Given the description of an element on the screen output the (x, y) to click on. 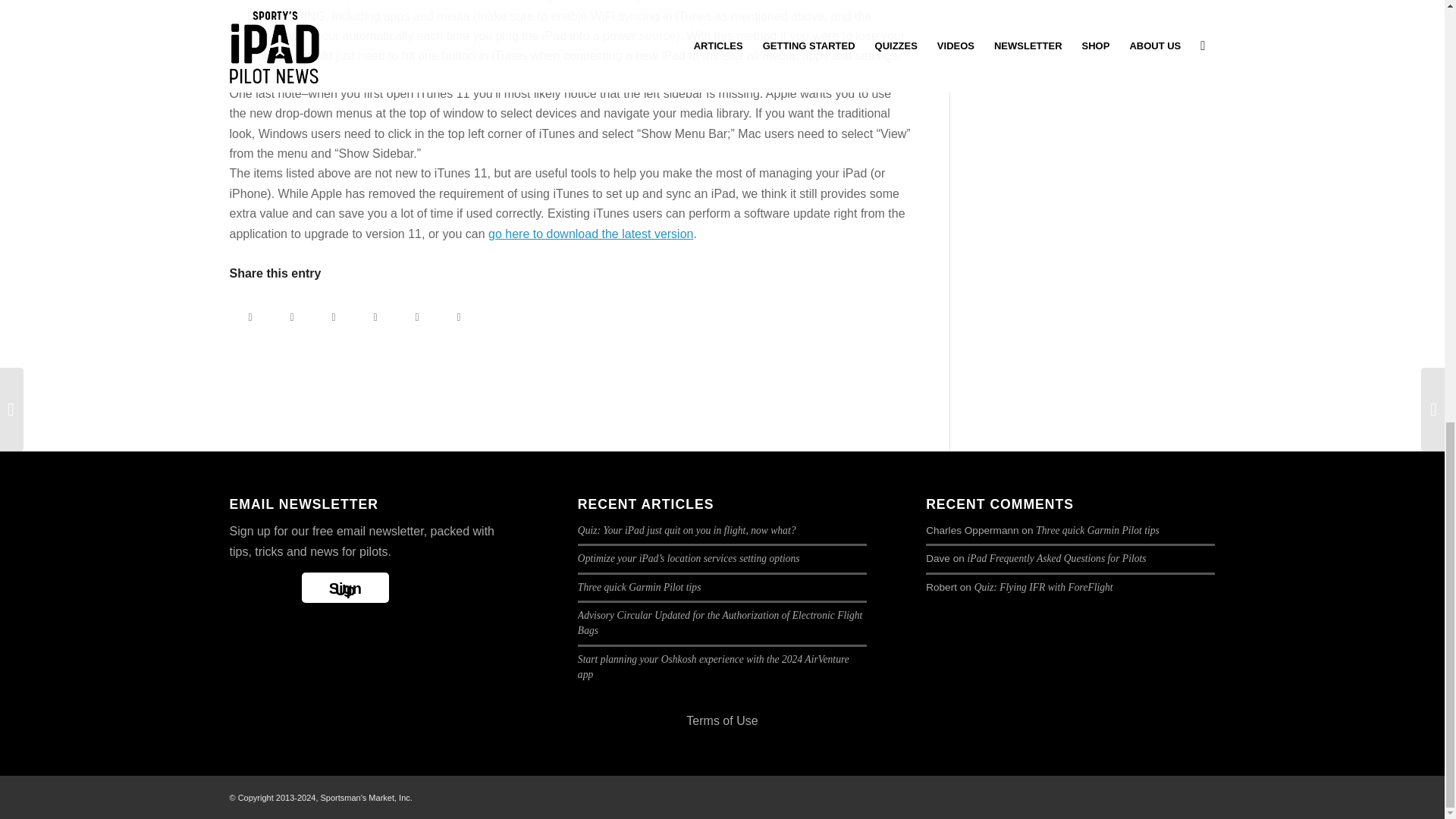
Sign Up (344, 587)
iTunes download (590, 233)
Quiz: Your iPad just quit on you in flight, now what? (687, 530)
go here to download the latest version (590, 233)
